Given the description of an element on the screen output the (x, y) to click on. 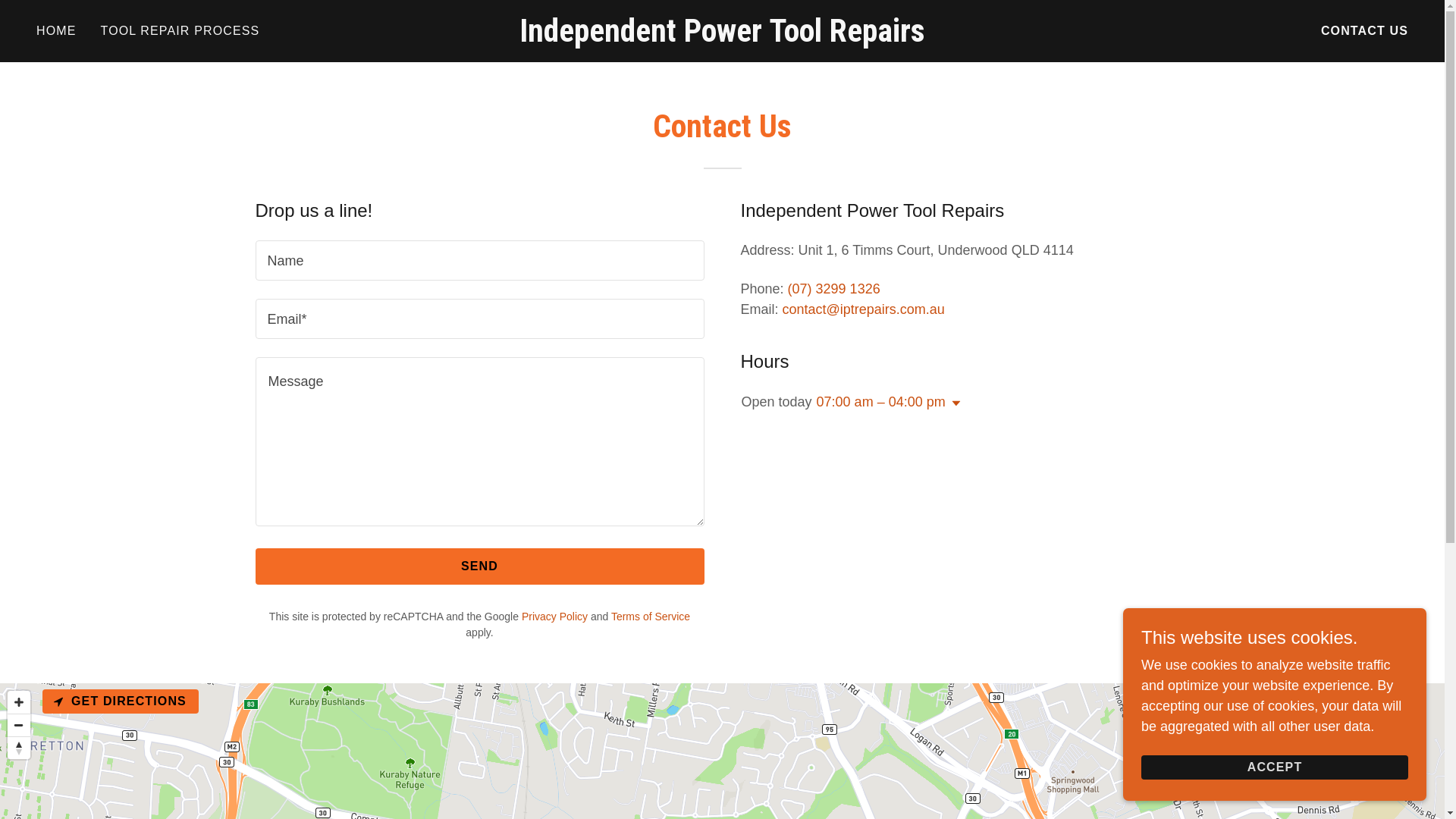
contact@iptrepairs.com.au Element type: text (863, 308)
(07) 3299 1326 Element type: text (833, 288)
SEND Element type: text (478, 566)
Terms of Service Element type: text (650, 616)
Zoom in Element type: hover (18, 701)
Independent Power Tool Repairs Element type: text (722, 36)
Zoom out Element type: hover (18, 724)
Privacy Policy Element type: text (554, 616)
ACCEPT Element type: text (1274, 767)
HOME Element type: text (56, 30)
TOOL REPAIR PROCESS Element type: text (180, 30)
CONTACT US Element type: text (1364, 30)
Reset bearing to north Element type: hover (18, 747)
GET DIRECTIONS Element type: text (120, 701)
